Given the description of an element on the screen output the (x, y) to click on. 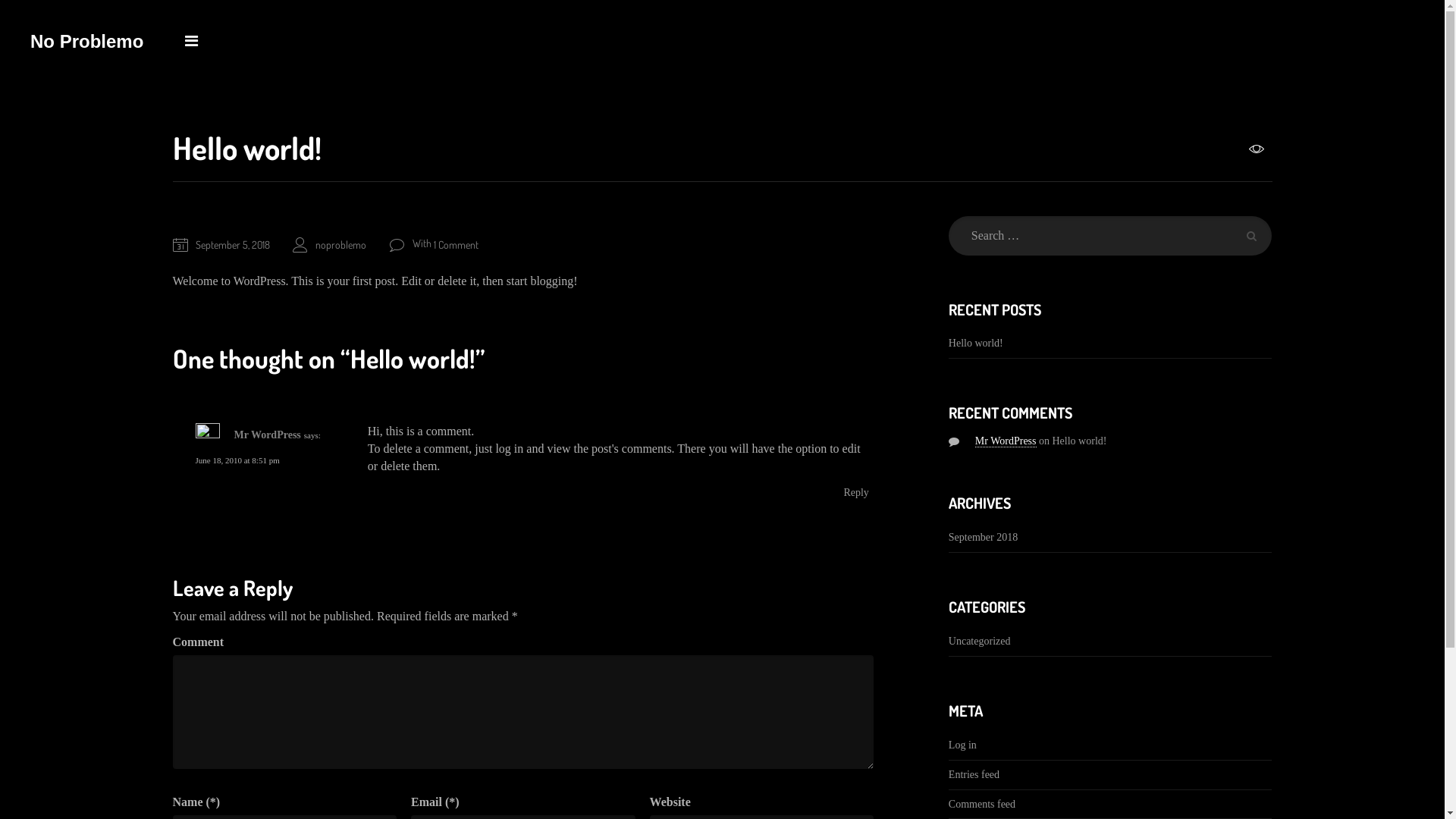
Mr WordPress Element type: text (1005, 440)
Mr WordPress Element type: text (266, 434)
Reply Element type: text (855, 492)
Entries feed Element type: text (1110, 774)
Hello world! Element type: text (1110, 343)
September 2018 Element type: text (982, 537)
September 5, 2018 Element type: text (232, 244)
No Problemo Element type: text (86, 41)
Uncategorized Element type: text (979, 641)
Log in Element type: text (1110, 745)
Hello world! Element type: text (1079, 440)
June 18, 2010 at 8:51 pm Element type: text (237, 459)
Search Element type: text (1251, 235)
1 Comment Element type: text (455, 244)
noproblemo Element type: text (340, 244)
